Given the description of an element on the screen output the (x, y) to click on. 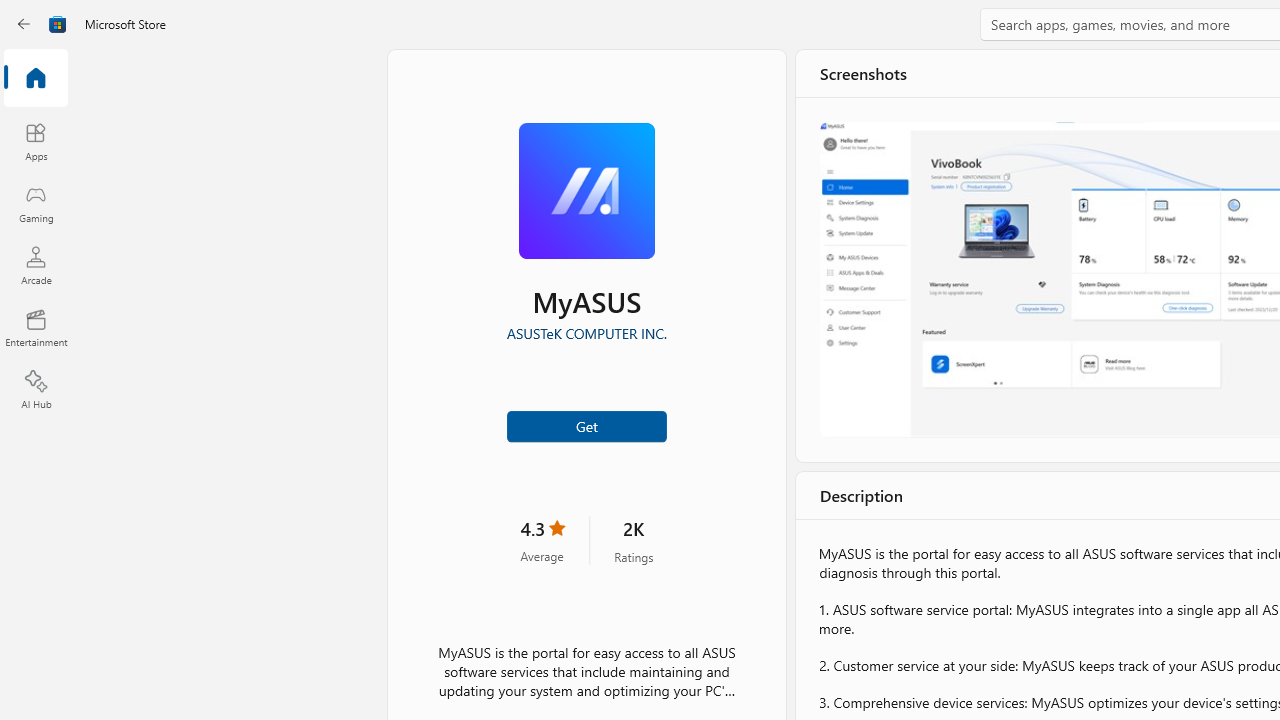
Back (24, 24)
4.3 stars. Click to skip to ratings and reviews (542, 539)
Get (586, 424)
ASUSTeK COMPUTER INC. (585, 333)
